Given the description of an element on the screen output the (x, y) to click on. 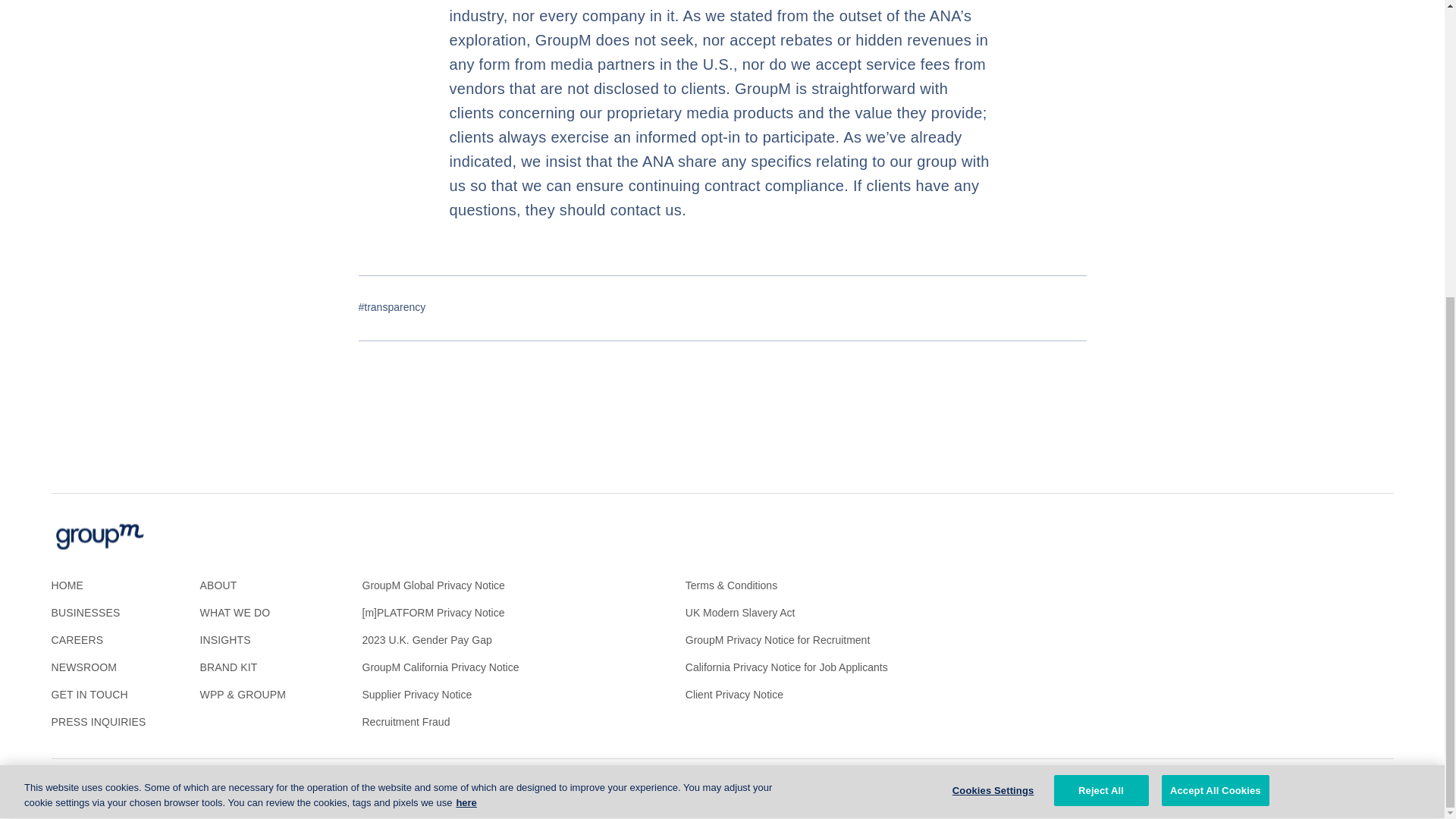
BACK TO TOP (1357, 790)
ABOUT (218, 585)
BUSINESSES (85, 612)
HOME (67, 585)
